Given the description of an element on the screen output the (x, y) to click on. 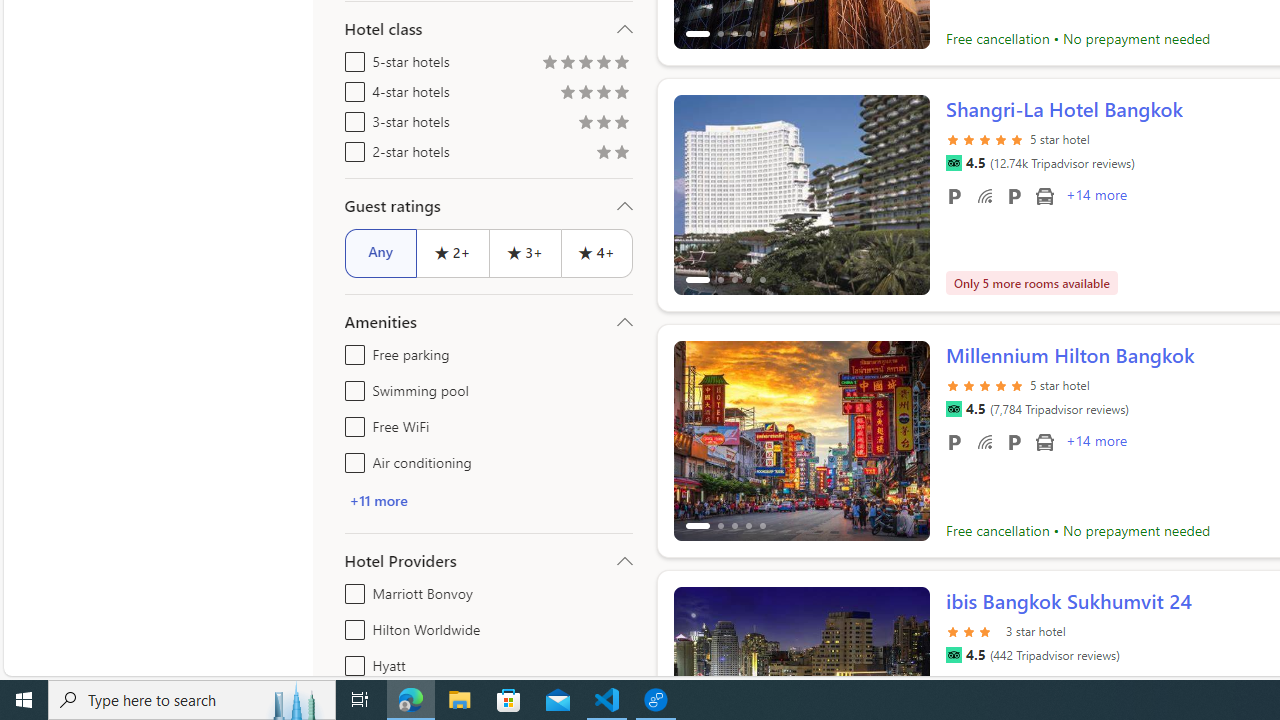
Free WiFi (351, 422)
